Given the description of an element on the screen output the (x, y) to click on. 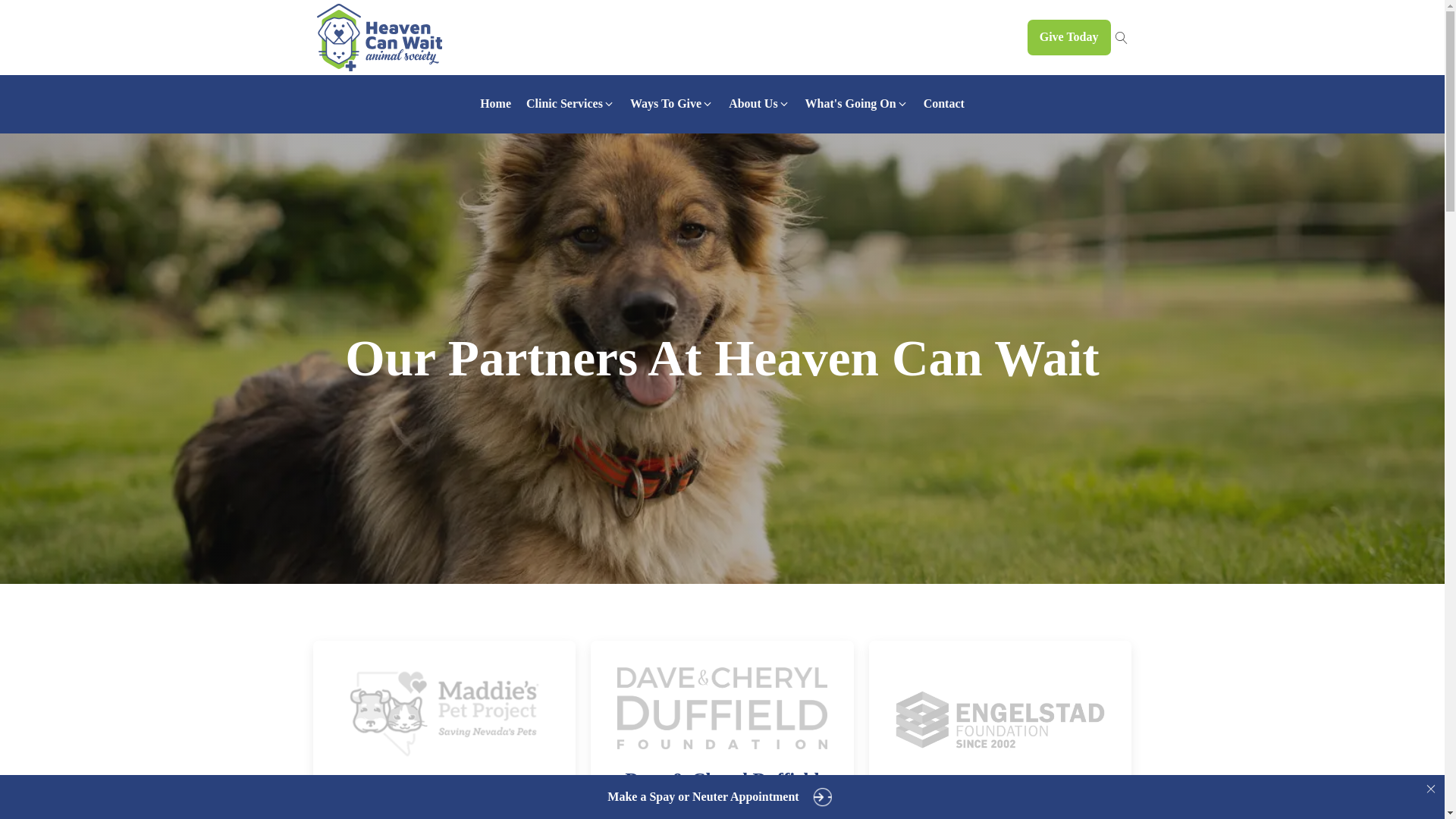
Contact (943, 103)
About Us (758, 103)
Search (22, 12)
What's Going On (856, 103)
Clinic Services (570, 103)
Ways To Give (671, 103)
Home (494, 103)
Give Today (1068, 36)
